Given the description of an element on the screen output the (x, y) to click on. 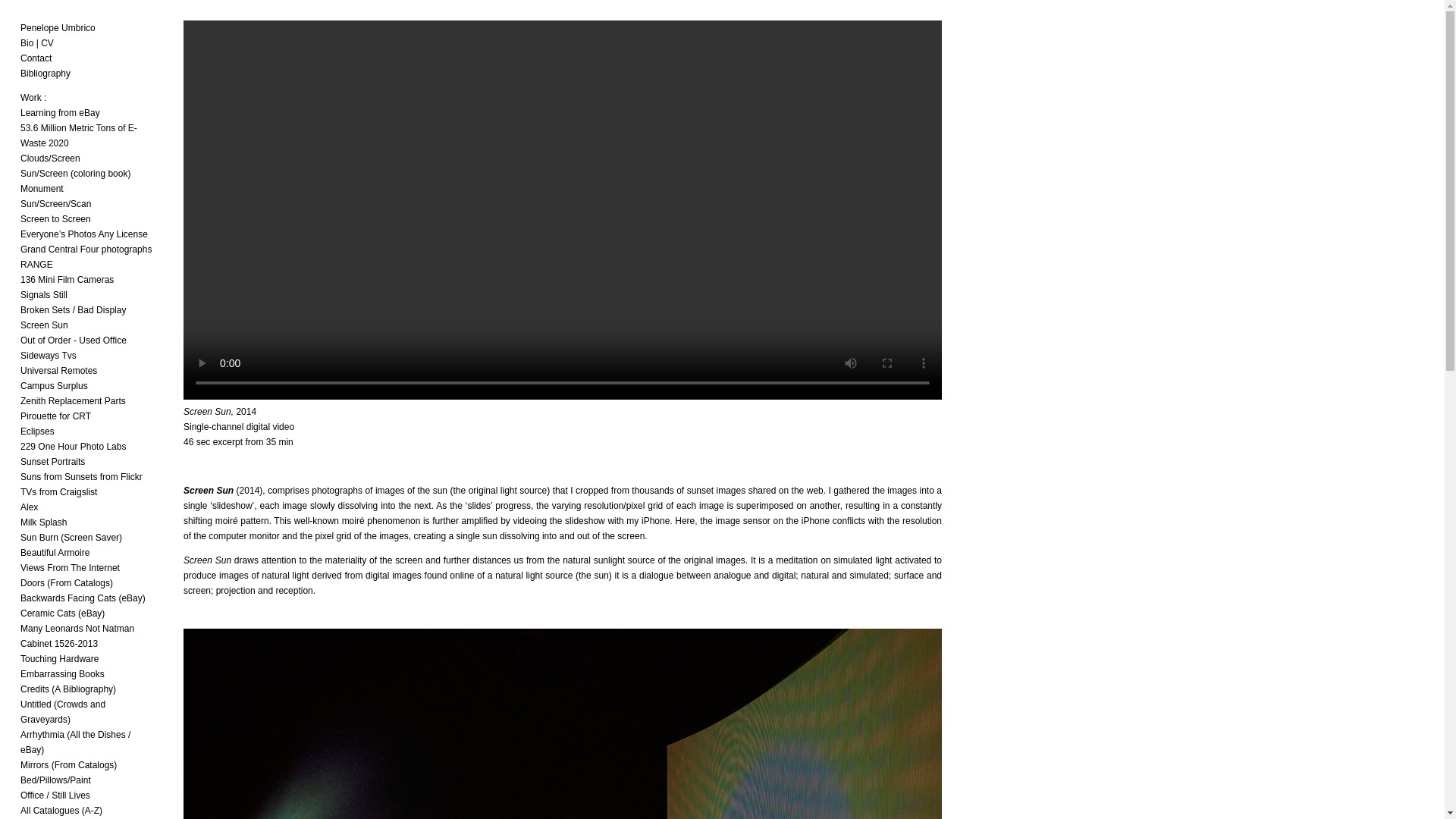
Many Leonards Not Natman (76, 628)
TVs from Craigslist (58, 491)
Suns from Sunsets from Flickr (81, 476)
Screen Sun (44, 325)
Pirouette for CRT (55, 416)
Signals Still (43, 294)
229 One Hour Photo Labs (72, 446)
Monument (42, 188)
Campus Surplus (53, 385)
Sunset Portraits (52, 461)
